Given the description of an element on the screen output the (x, y) to click on. 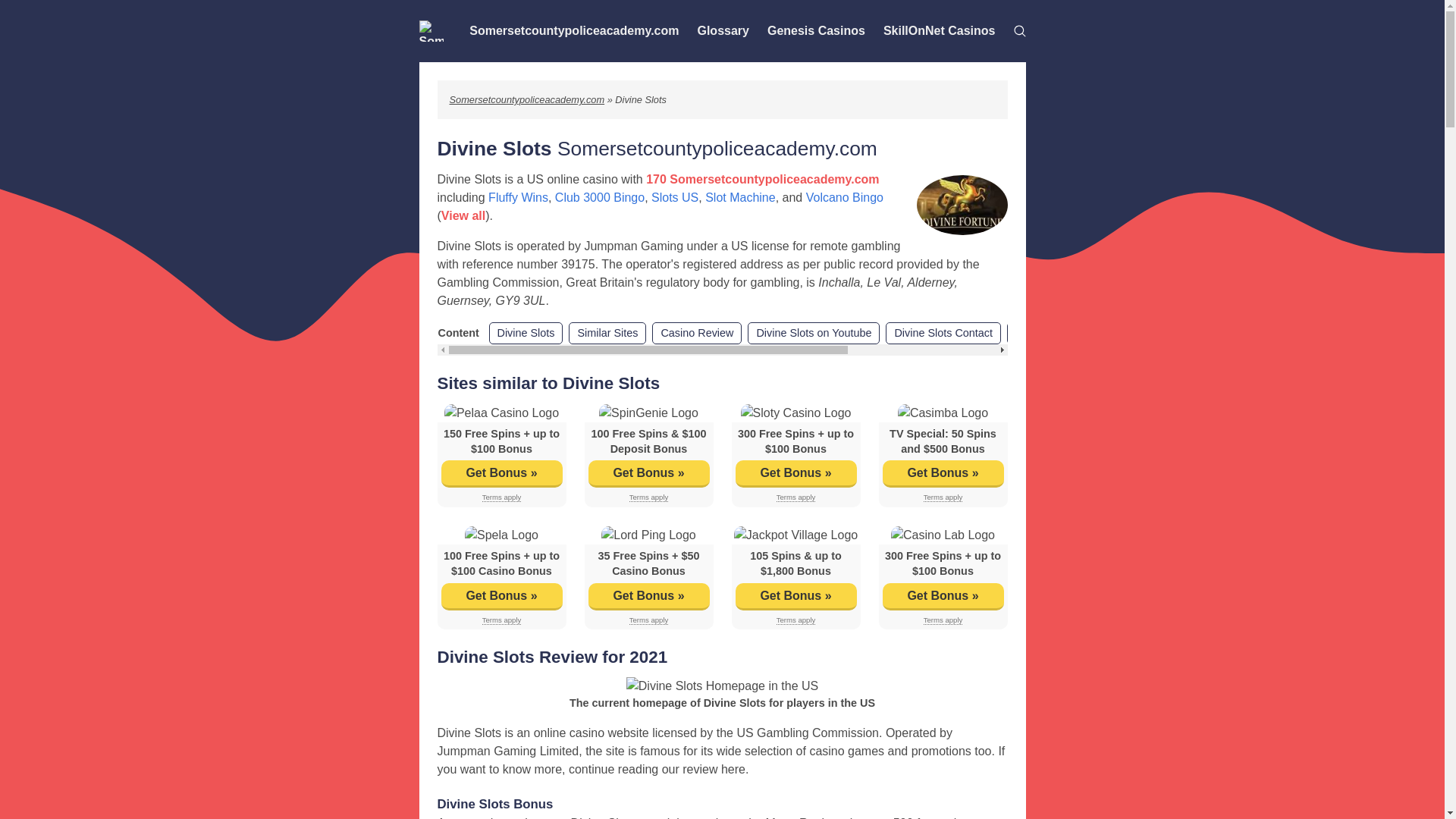
Casino Lab Logo (942, 535)
Divine Slots (524, 333)
Somersetcountypoliceacademy.com Logo (430, 30)
All Somersetcountypoliceacademy.com (1109, 333)
Divine Slots on Youtube (813, 333)
Slots US (674, 196)
Jackpot Village Logo (795, 535)
Spela Logo (501, 535)
Casino Review (696, 333)
Divine Slots Homepage in the US (722, 686)
